Given the description of an element on the screen output the (x, y) to click on. 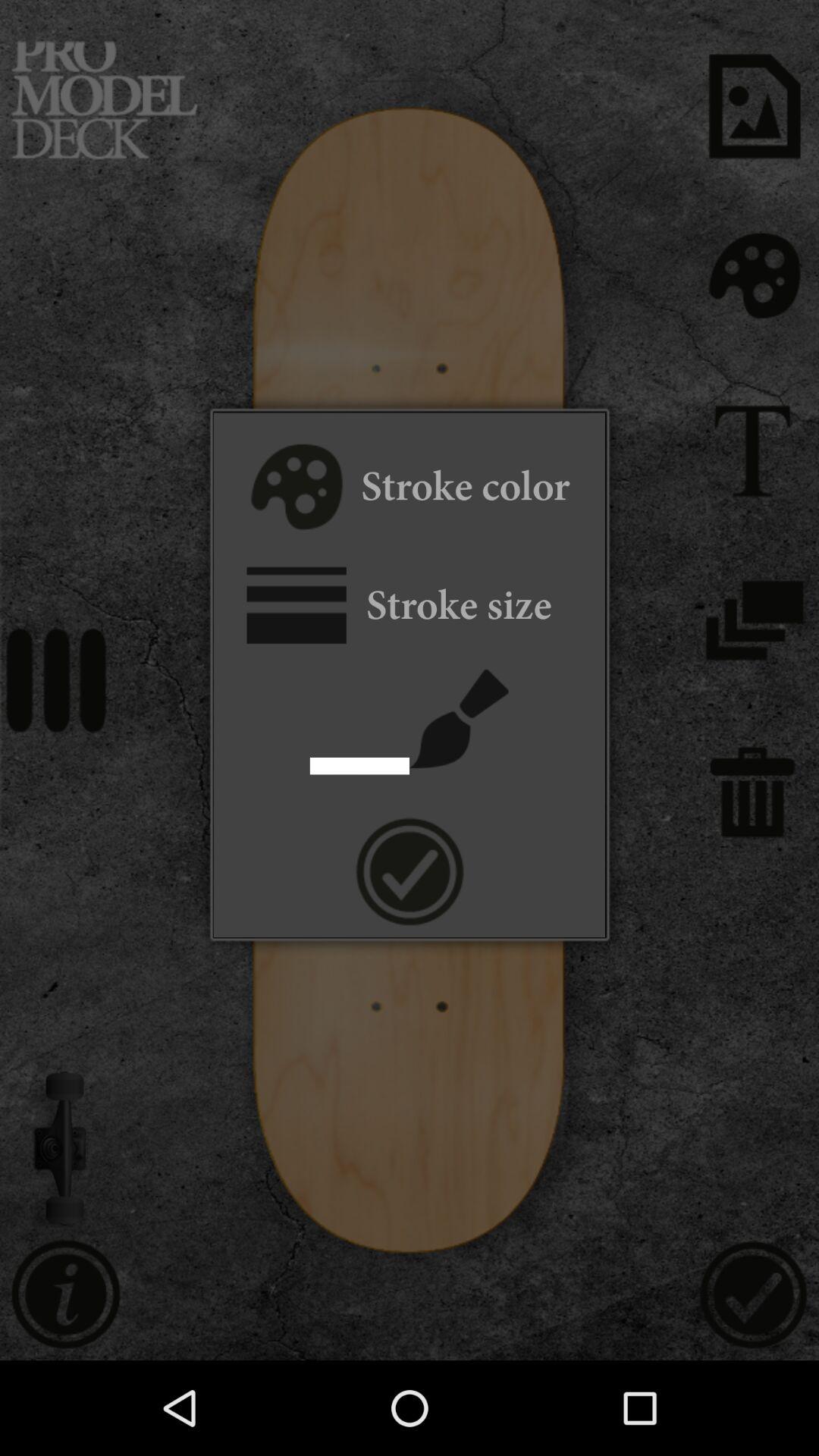
select paintbrush (459, 718)
